Given the description of an element on the screen output the (x, y) to click on. 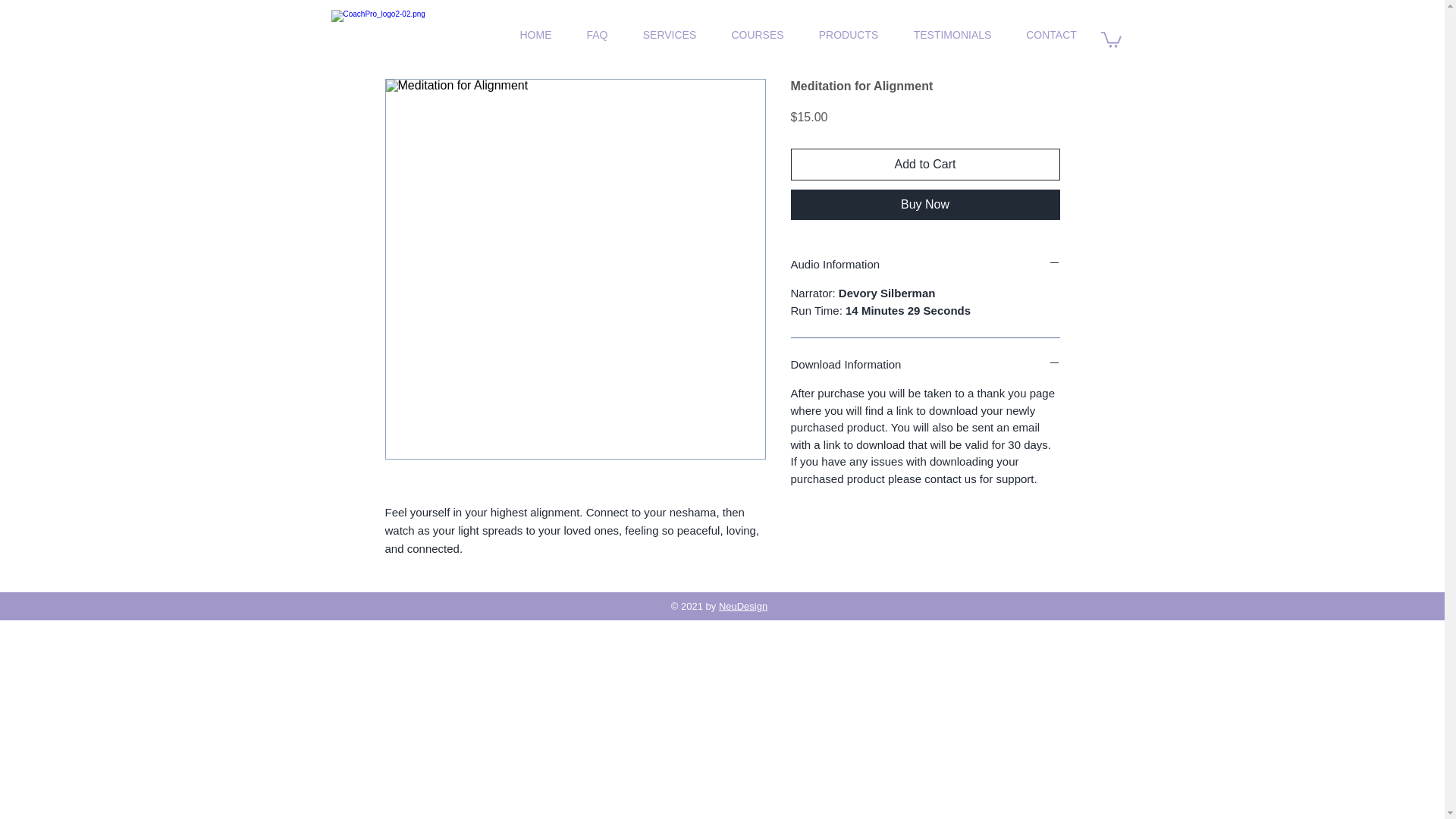
NeuDesign (743, 605)
COURSES (758, 34)
Buy Now (924, 204)
PRODUCTS (847, 34)
Audio Information (924, 263)
FAQ (596, 34)
SERVICES (668, 34)
HOME (535, 34)
Download Information (924, 364)
CONTACT (1051, 34)
